Given the description of an element on the screen output the (x, y) to click on. 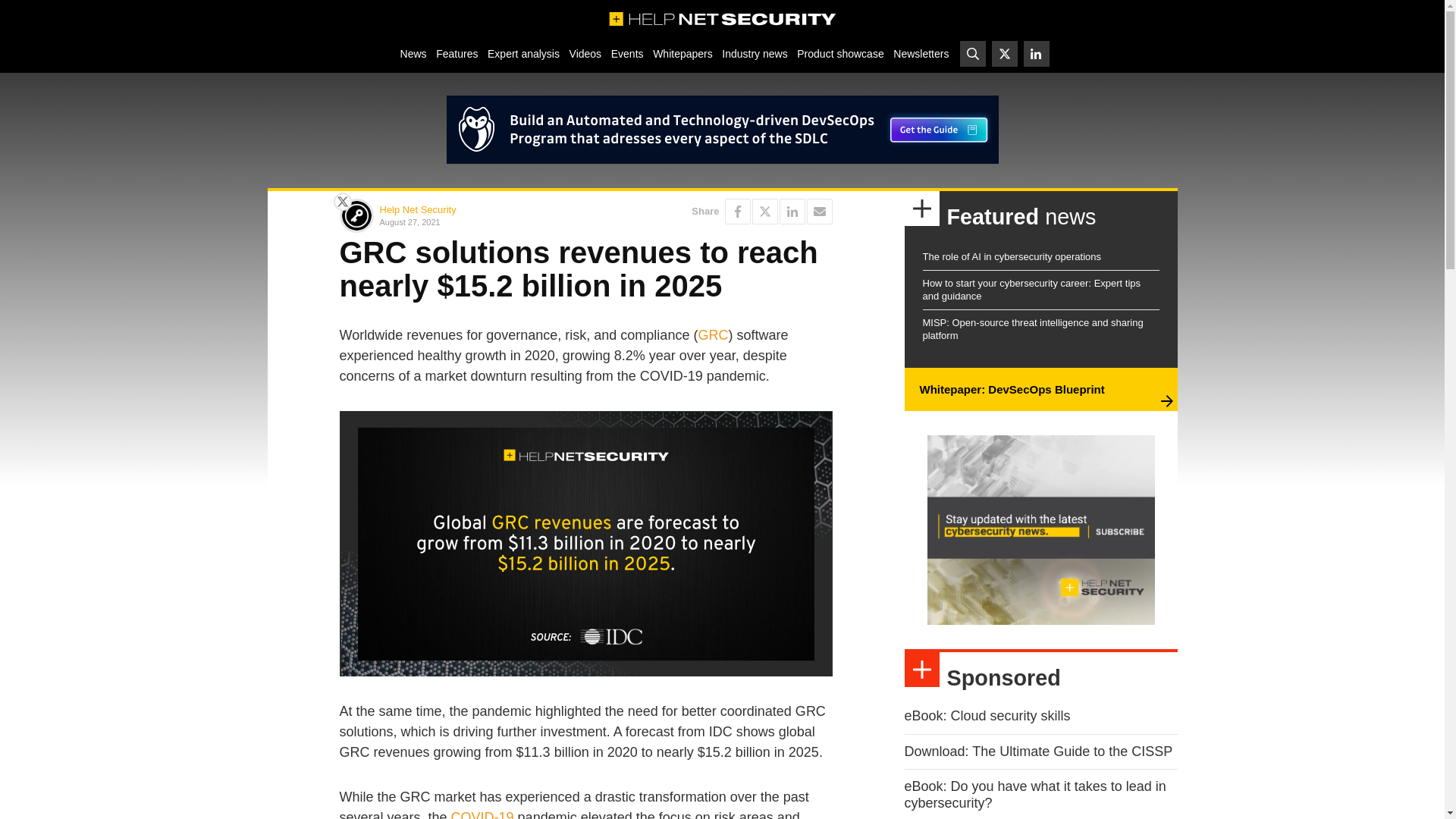
COVID-19 (482, 814)
The role of AI in cybersecurity operations (1010, 256)
News (412, 53)
Expert analysis (523, 53)
Help Net Security (416, 209)
Videos (584, 53)
Industry news (754, 53)
Events (626, 53)
Whitepapers (682, 53)
Newsletters (920, 53)
Product showcase (840, 53)
August 27, 2021 (478, 221)
GRC (712, 335)
